Given the description of an element on the screen output the (x, y) to click on. 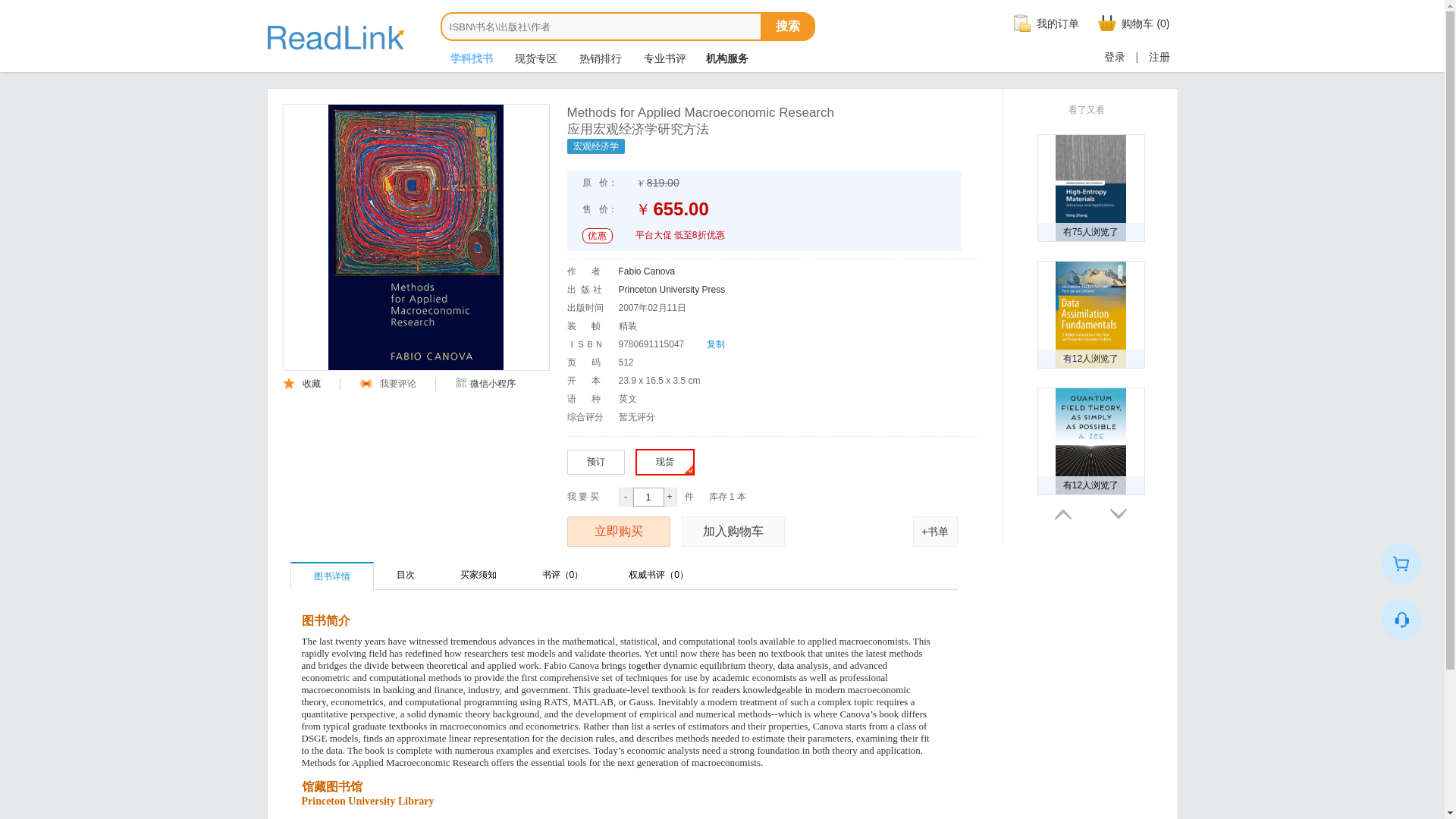
Fabio Canova (646, 271)
- (625, 496)
Princeton University Press (671, 289)
1 (647, 496)
